Given the description of an element on the screen output the (x, y) to click on. 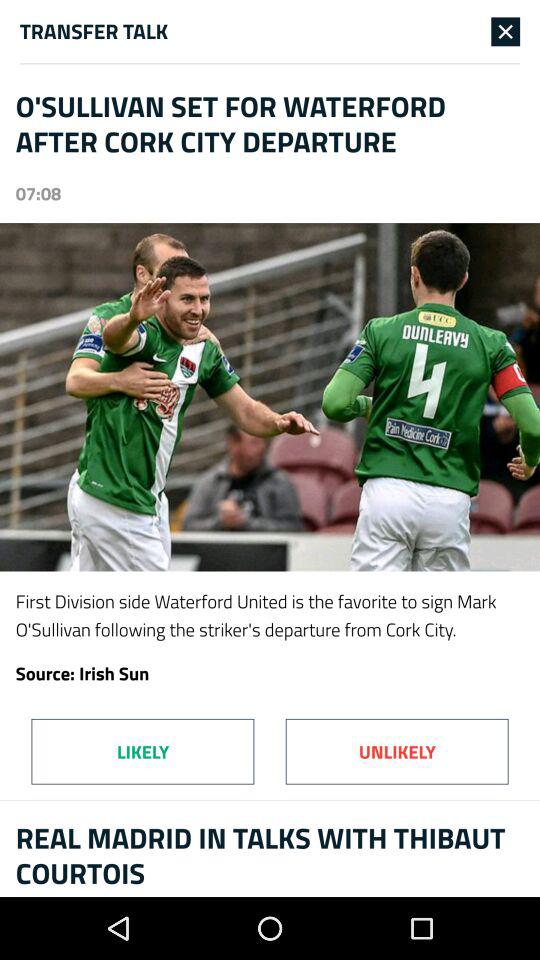
flip to the likely item (142, 751)
